Given the description of an element on the screen output the (x, y) to click on. 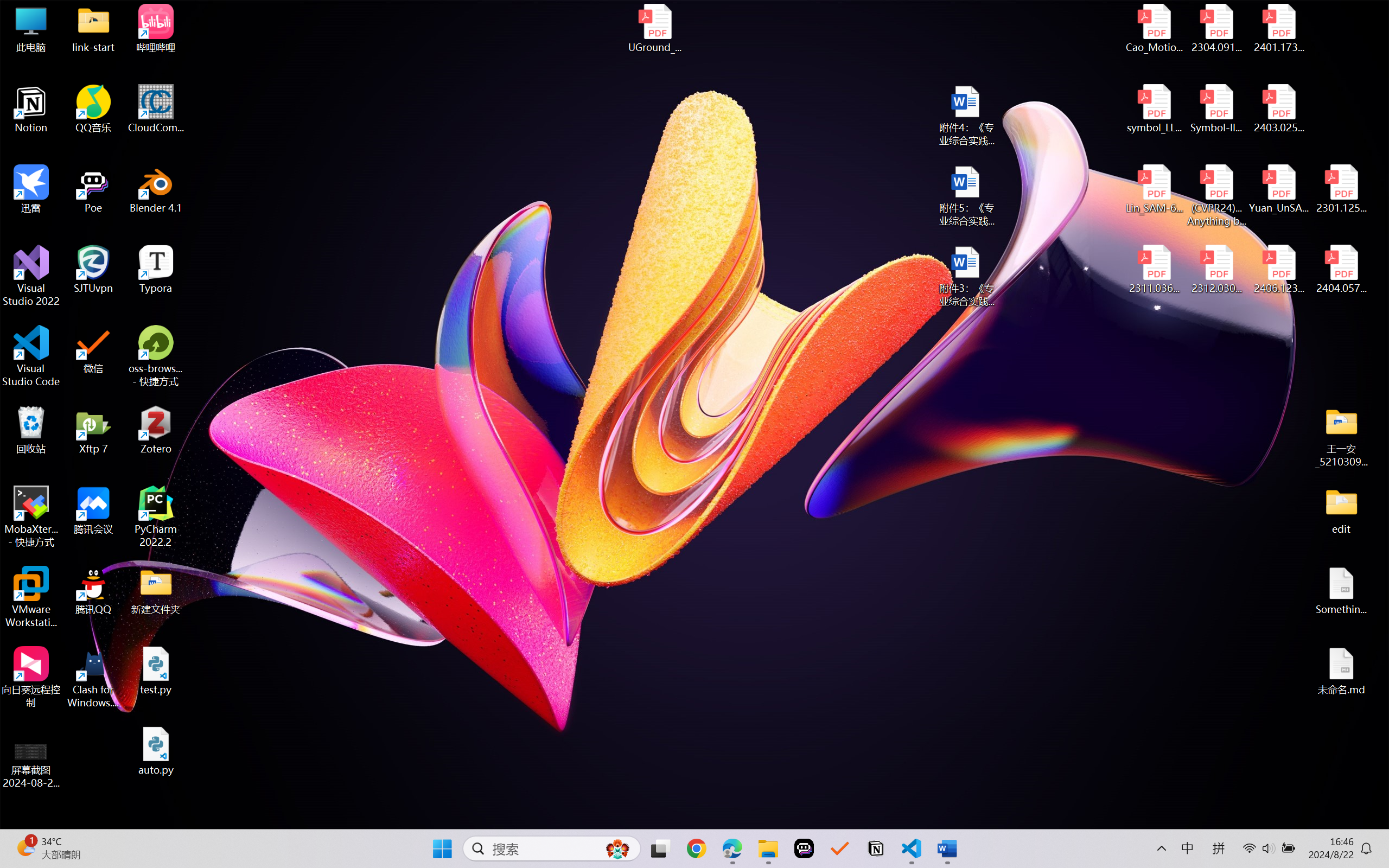
Visual Studio 2022 (31, 276)
Something.md (1340, 591)
2406.12373v2.pdf (1278, 269)
2404.05719v1.pdf (1340, 269)
2304.09121v3.pdf (1216, 28)
Symbol-llm-v2.pdf (1216, 109)
